Given the description of an element on the screen output the (x, y) to click on. 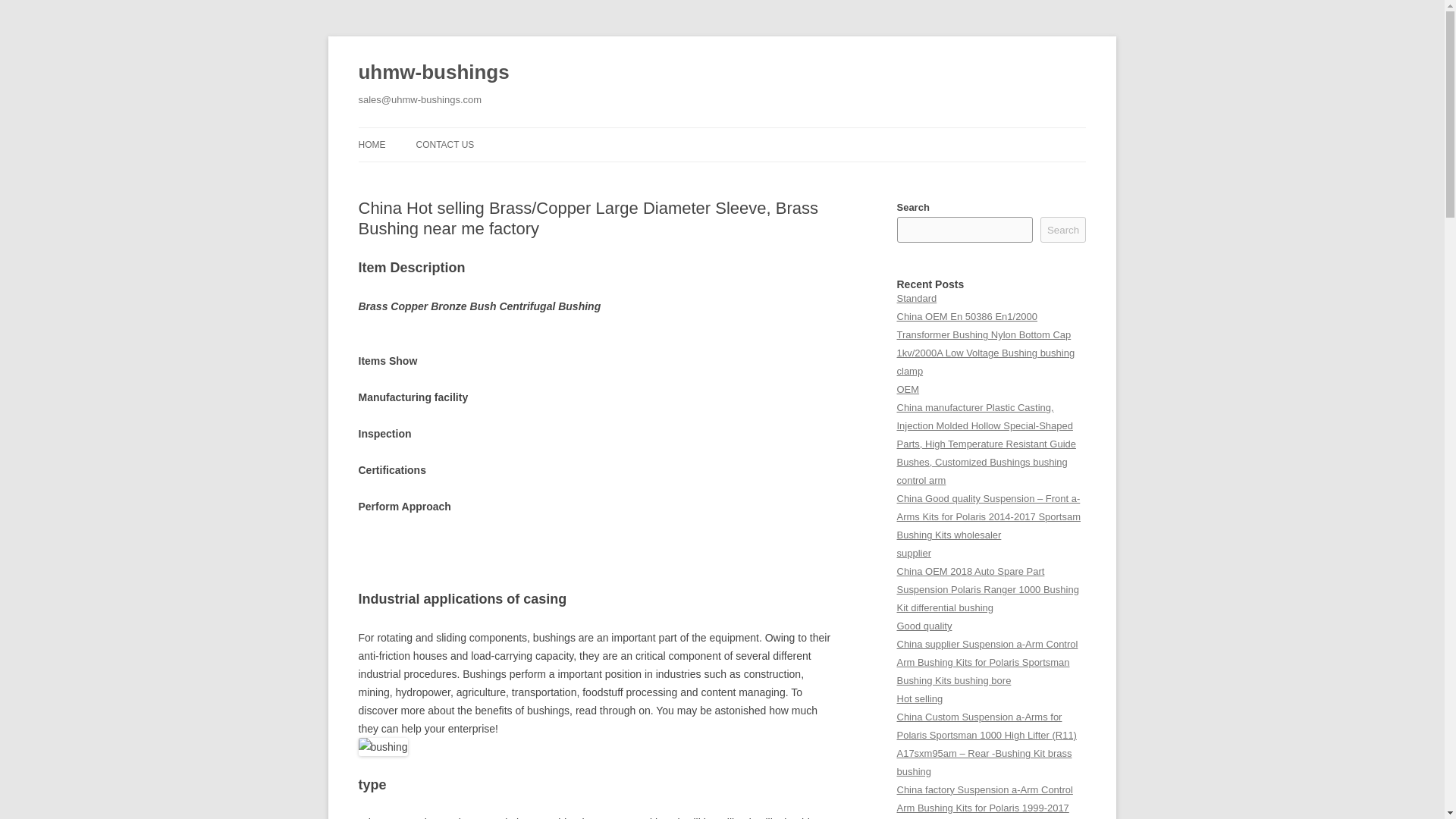
supplier (913, 552)
OEM (907, 389)
Good quality (924, 625)
Search (1063, 229)
CONTACT US (444, 144)
Standard (916, 297)
HOME (371, 144)
uhmw-bushings (433, 72)
Hot selling (919, 698)
